Given the description of an element on the screen output the (x, y) to click on. 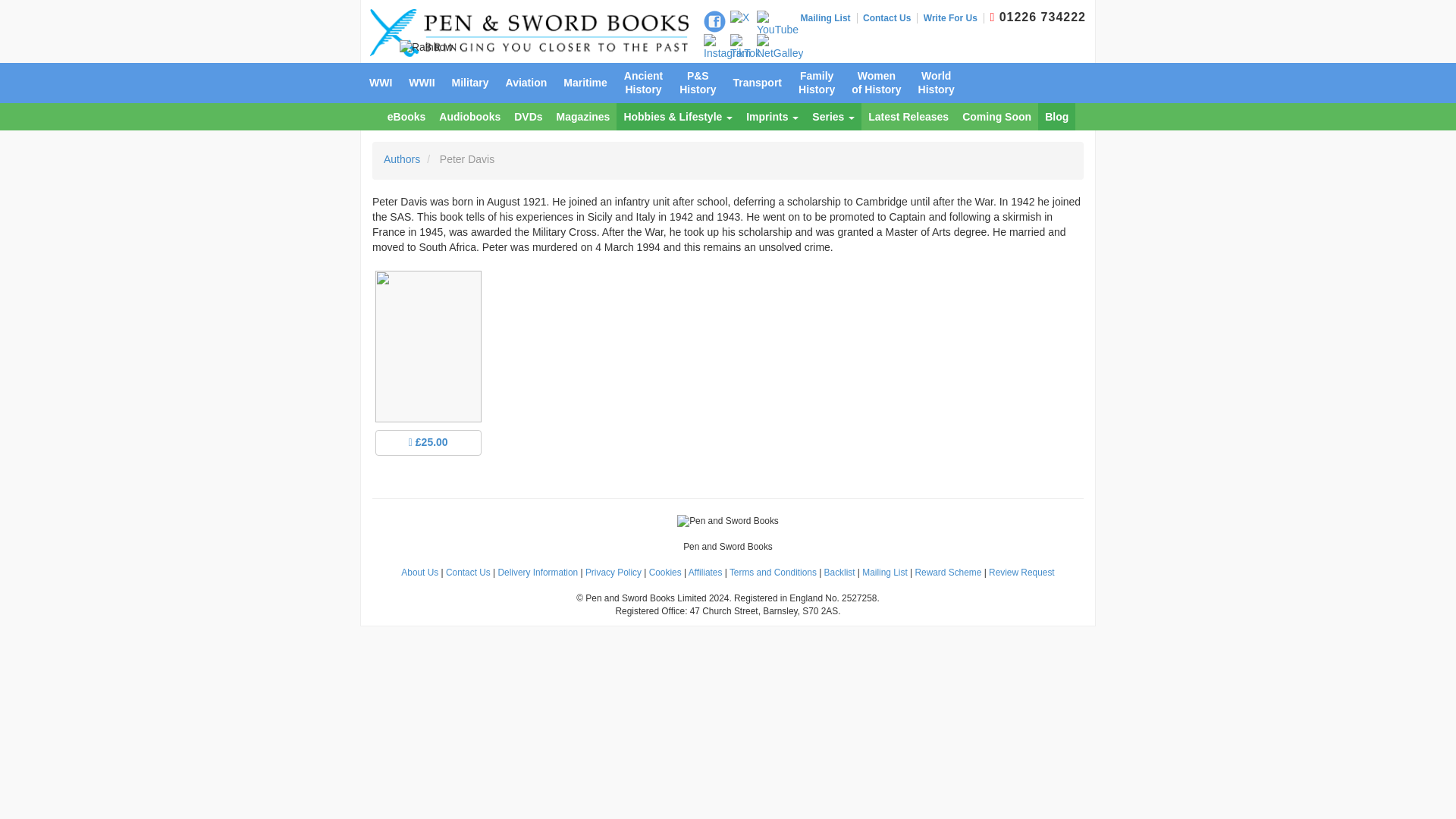
TikTok (745, 47)
Write For Us (953, 18)
Facebook (714, 21)
Contact Us (890, 18)
YouTube (777, 23)
Instagram (727, 47)
Mailing List (828, 18)
NetGalley (780, 47)
X (739, 17)
